Given the description of an element on the screen output the (x, y) to click on. 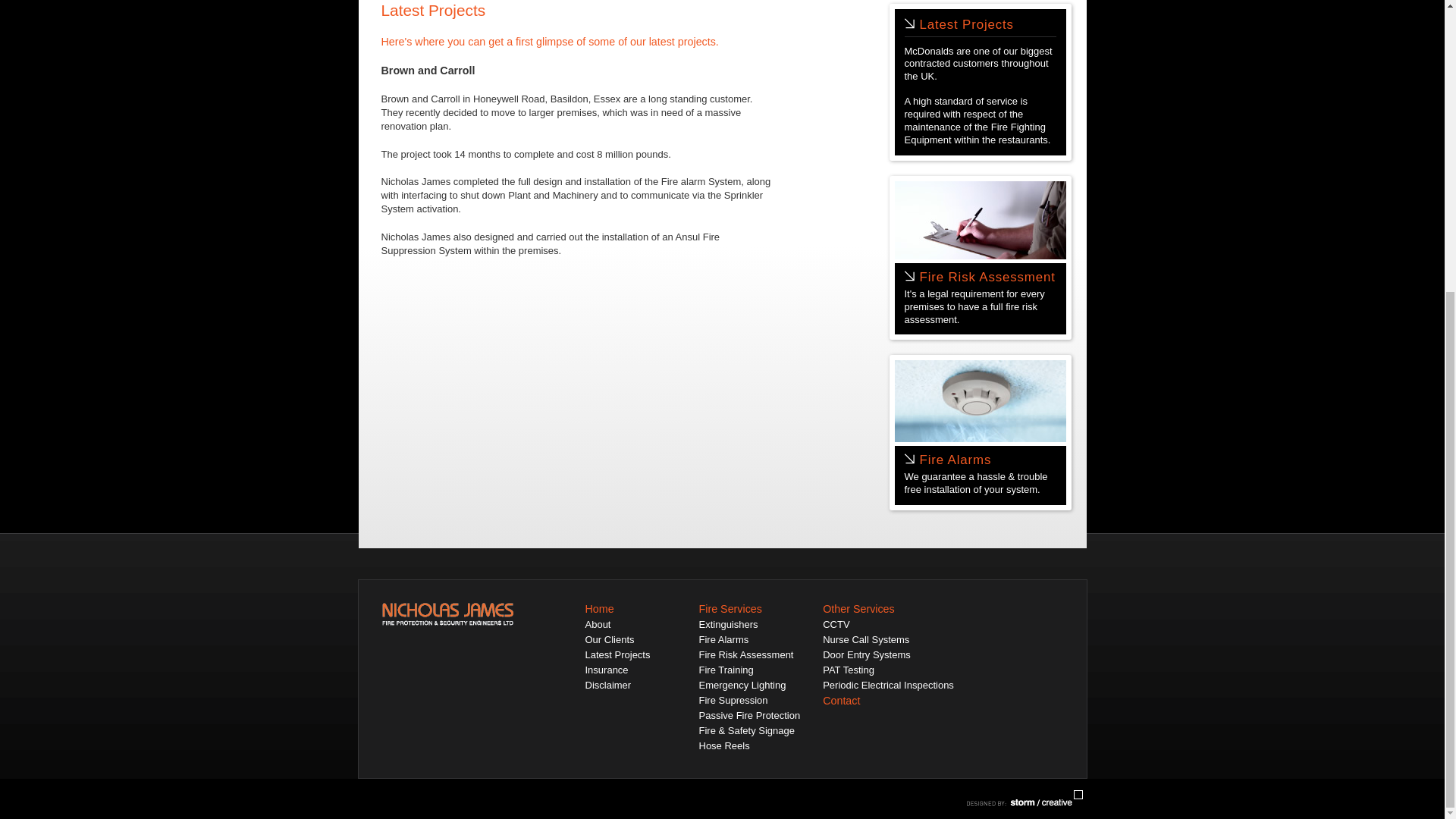
Fire Alarms (954, 459)
About (598, 624)
Fire Alarms (723, 639)
Fire Risk Assessment (745, 654)
Disclaimer (608, 685)
Latest Projects (965, 23)
Insurance (606, 669)
Fire Services (729, 608)
Extinguishers (728, 624)
Home (599, 608)
Latest Projects (617, 654)
Fire Risk Assessment (986, 277)
Our Clients (609, 639)
